Given the description of an element on the screen output the (x, y) to click on. 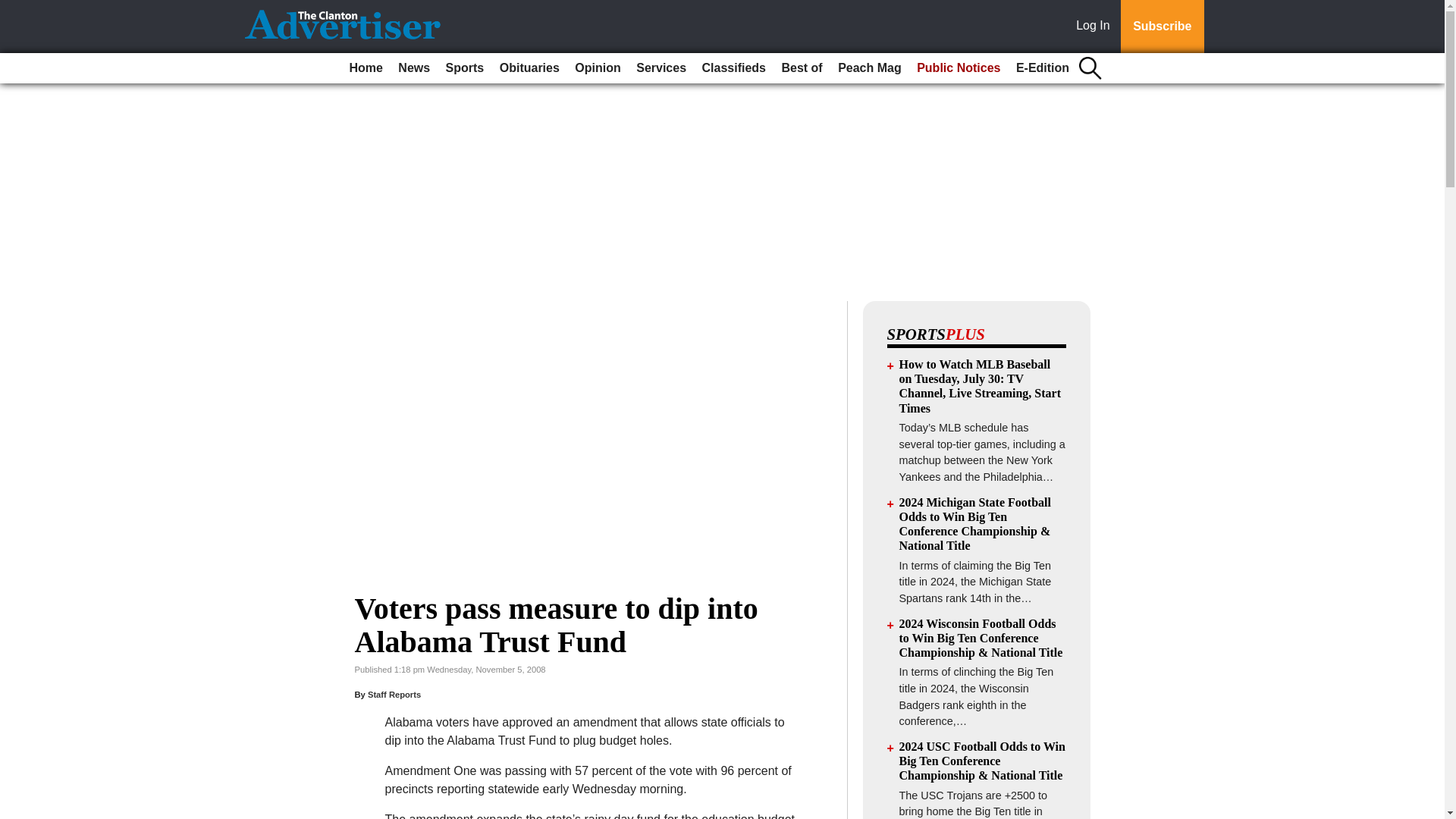
Sports (464, 68)
Services (661, 68)
Go (13, 9)
Log In (1095, 26)
News (413, 68)
Public Notices (958, 68)
Opinion (597, 68)
E-Edition (1042, 68)
Staff Reports (394, 694)
Obituaries (529, 68)
Home (365, 68)
Classifieds (733, 68)
Subscribe (1162, 26)
Peach Mag (869, 68)
